Given the description of an element on the screen output the (x, y) to click on. 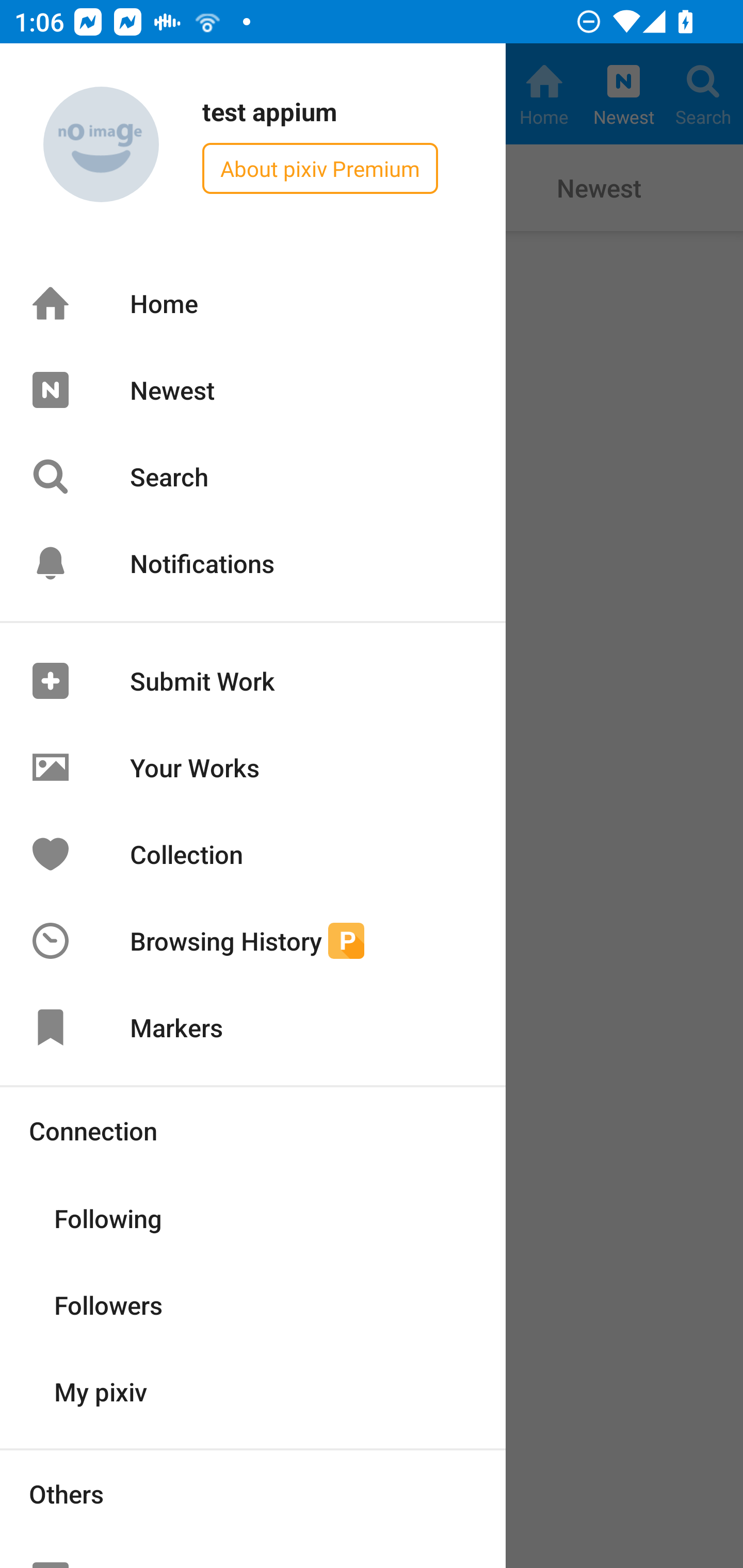
test appium About pixiv Premium (252, 144)
About pixiv Premium (320, 168)
Home (252, 303)
Newest (252, 389)
Search (252, 476)
Notifications (252, 563)
Submit Work (252, 681)
Your Works (252, 767)
Collection (252, 853)
Browsing History [P] (252, 940)
Markers (252, 1027)
　Following (252, 1217)
　Followers (252, 1303)
　My pixiv (252, 1389)
